Given the description of an element on the screen output the (x, y) to click on. 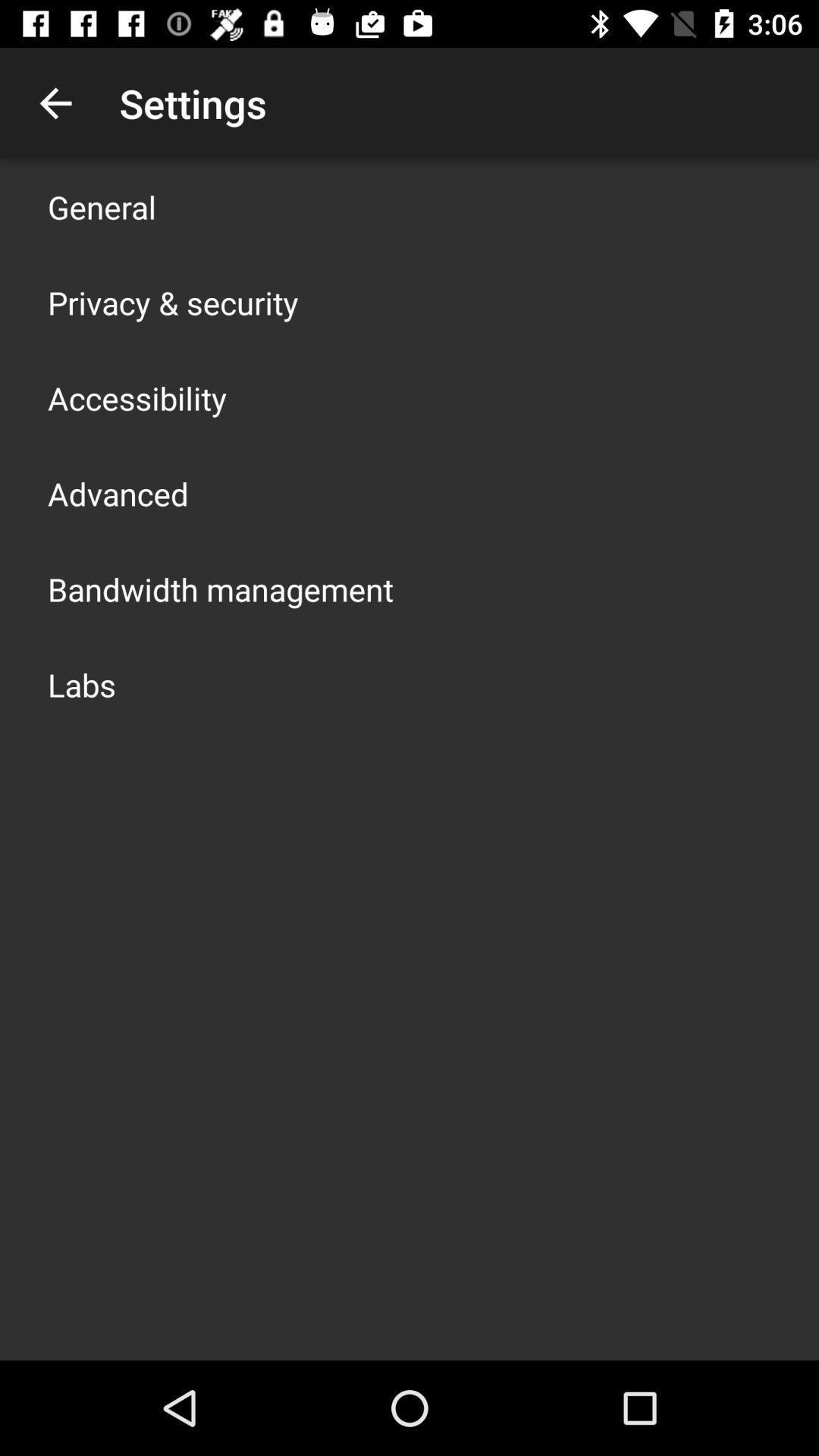
turn off the app to the left of settings icon (55, 103)
